Given the description of an element on the screen output the (x, y) to click on. 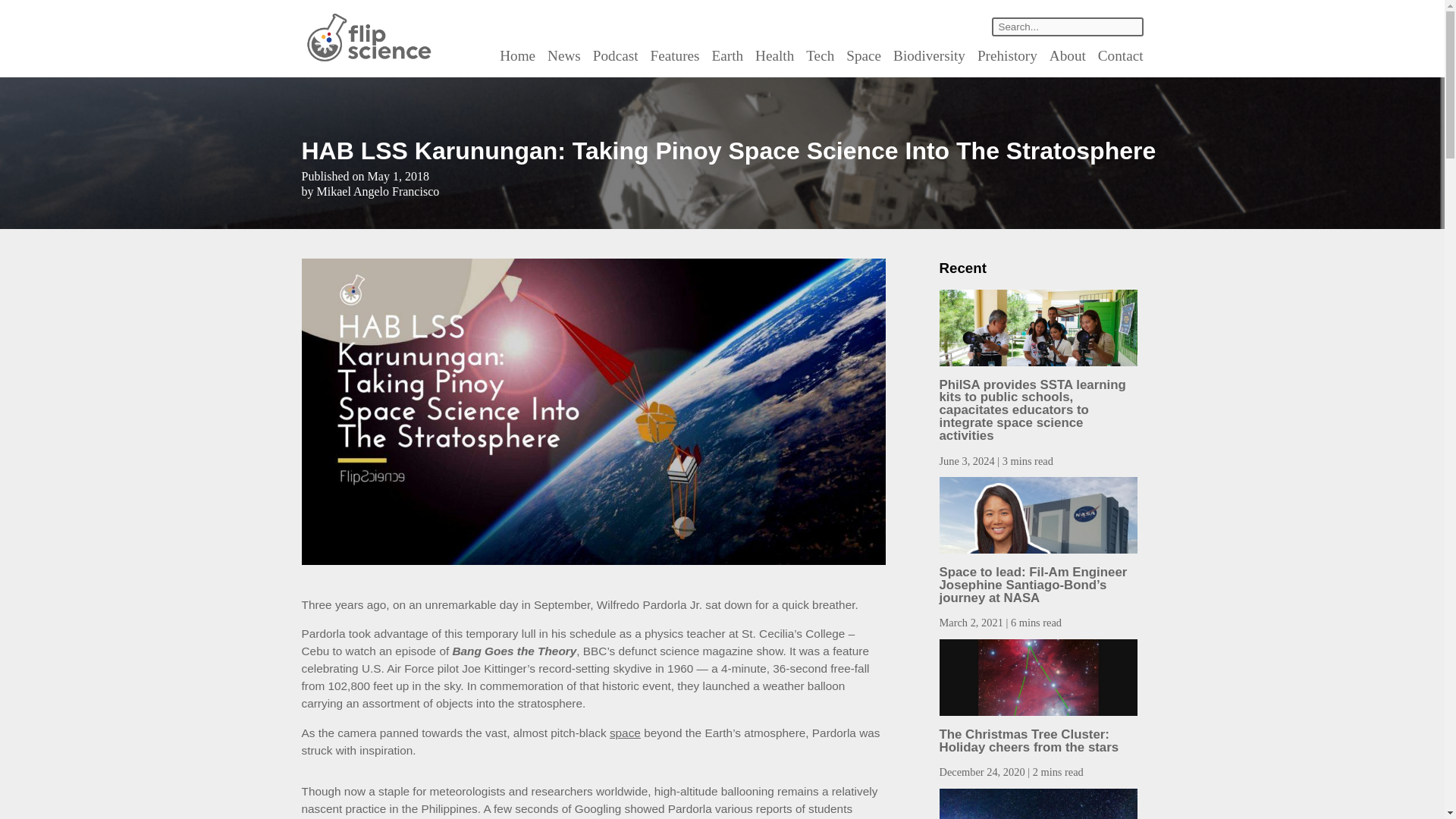
Health (774, 55)
Space (862, 55)
Features (675, 55)
FlipScience (367, 58)
space (625, 732)
Podcast (615, 55)
News (563, 55)
Contact (1119, 55)
Prehistory (1006, 55)
Home (517, 55)
About (1067, 55)
Biodiversity (929, 55)
Earth (727, 55)
Tech (820, 55)
